Given the description of an element on the screen output the (x, y) to click on. 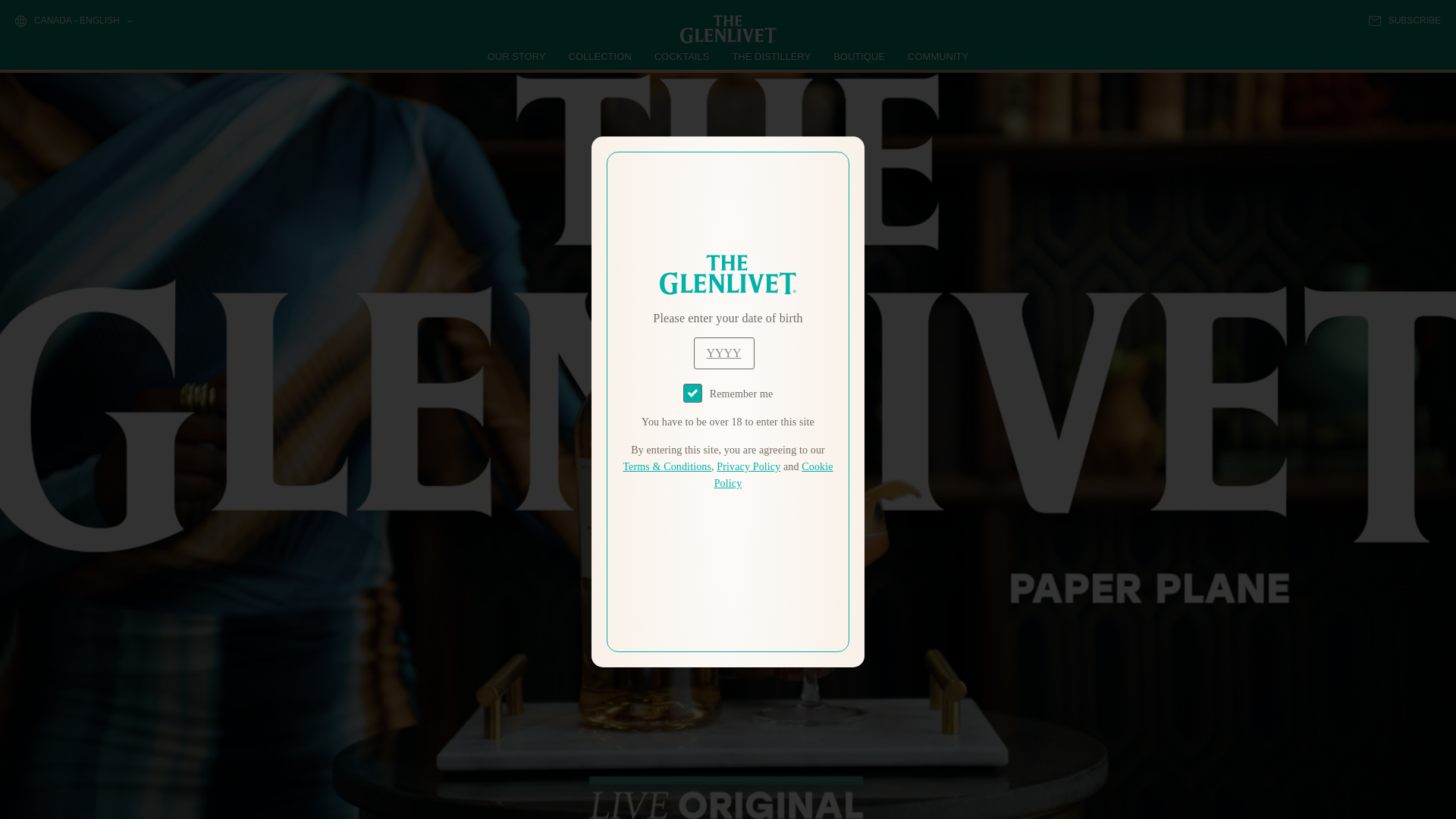
OUR STORY (516, 56)
BOUTIQUE (858, 56)
CANADA - ENGLISH (73, 21)
COLLECTION (600, 56)
SUBSCRIBE (1404, 20)
Cookie Policy (773, 474)
THE DISTILLERY (771, 56)
year (723, 353)
COMMUNITY (937, 56)
Privacy Policy (748, 466)
